Given the description of an element on the screen output the (x, y) to click on. 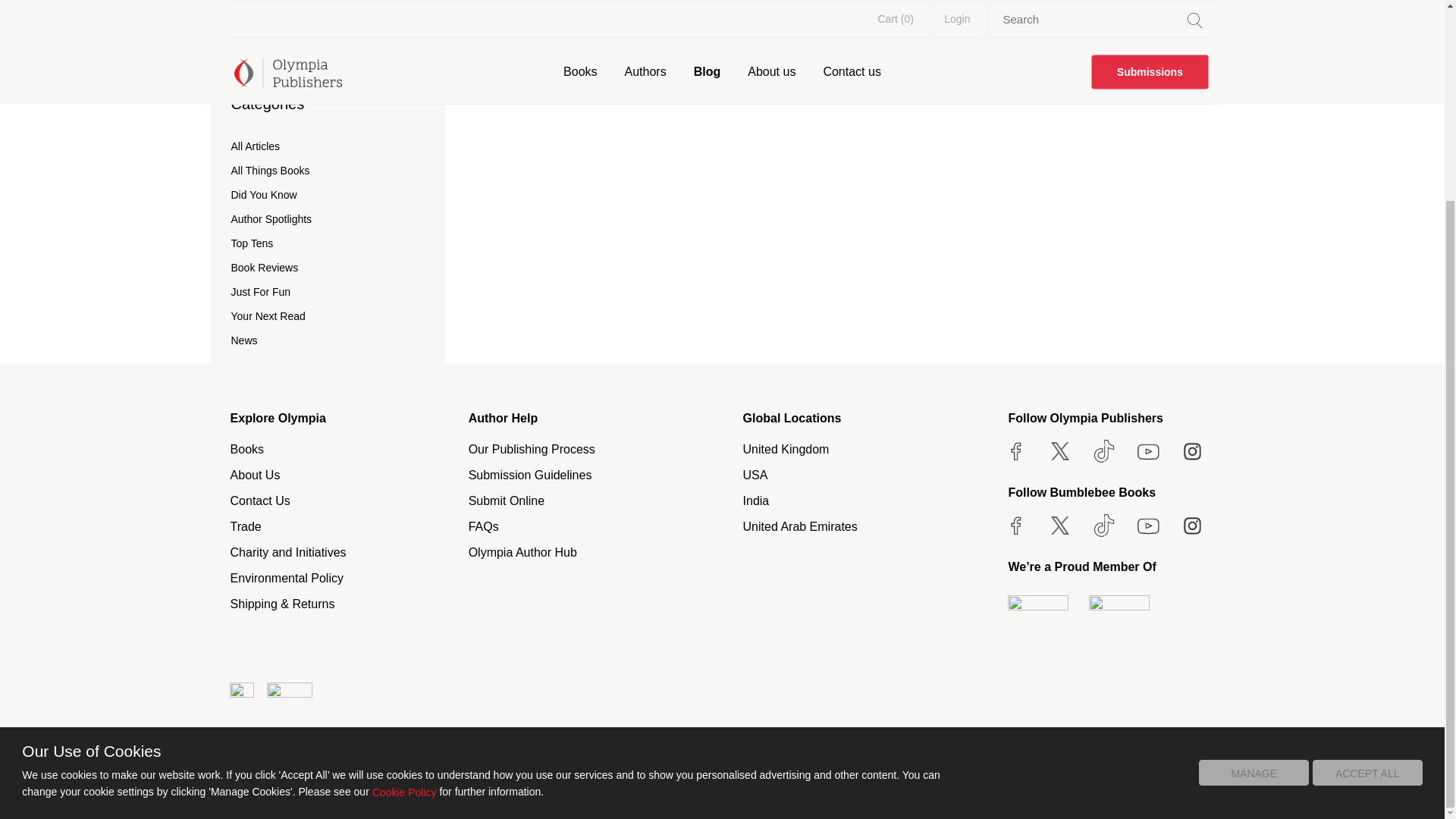
Our Youtube Channel (1148, 450)
Follow us on TikTok (1103, 450)
Follow us on Instagram (1191, 450)
Follow us on Twitter (1059, 450)
Follow on Tiktok (1103, 525)
Like Us on Facebook (1015, 450)
Bumblebee Youtube Channel (1148, 525)
Follow Bumblebee on Instagram (1191, 525)
Like Bumblebee on Facebook (1015, 525)
Follow Bumblebee on Twitter (1059, 525)
